Given the description of an element on the screen output the (x, y) to click on. 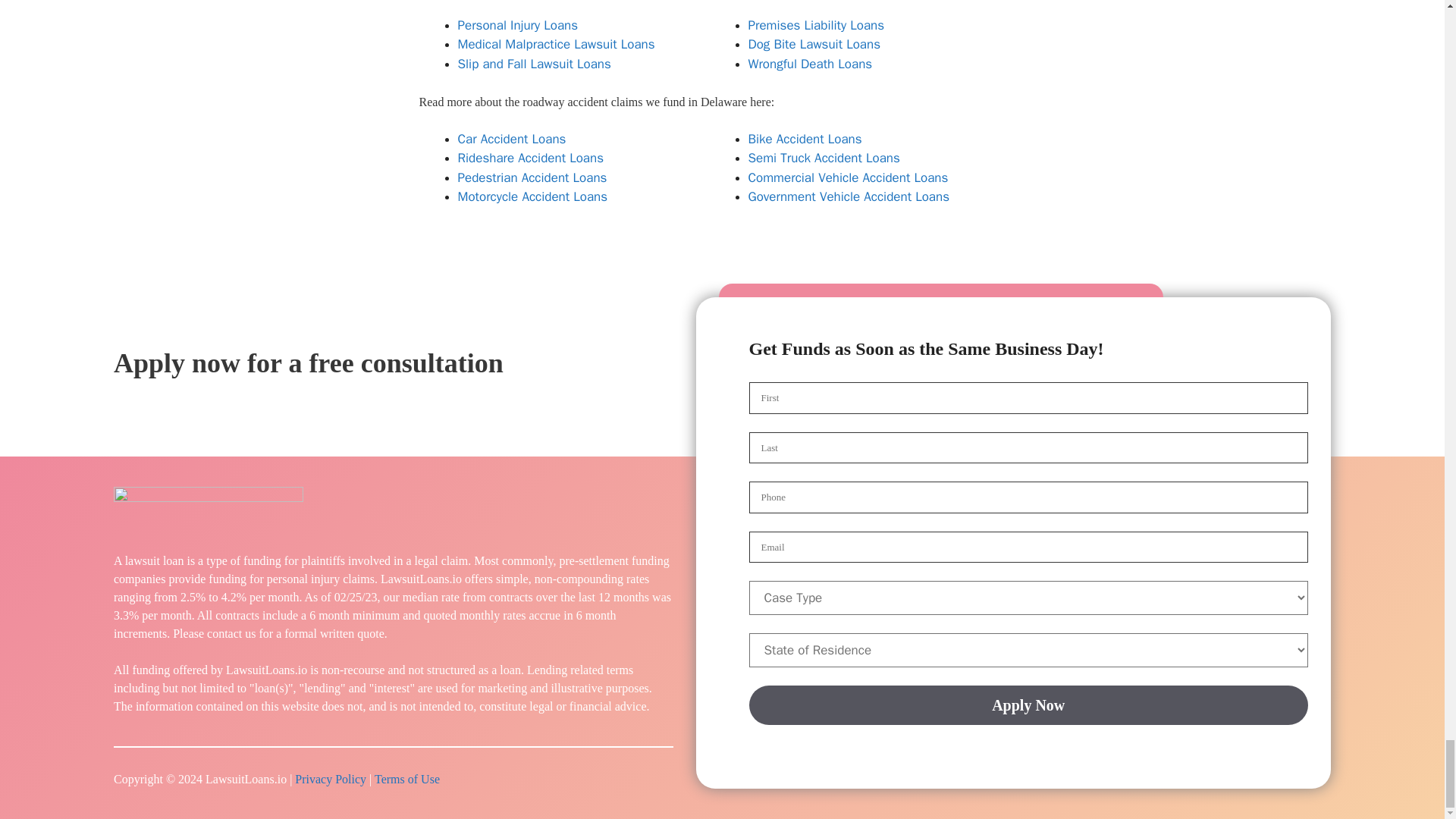
Personal Injury Loans (518, 25)
Apply Now (1028, 704)
Medical Malpractice Lawsuit Loans (556, 44)
